Given the description of an element on the screen output the (x, y) to click on. 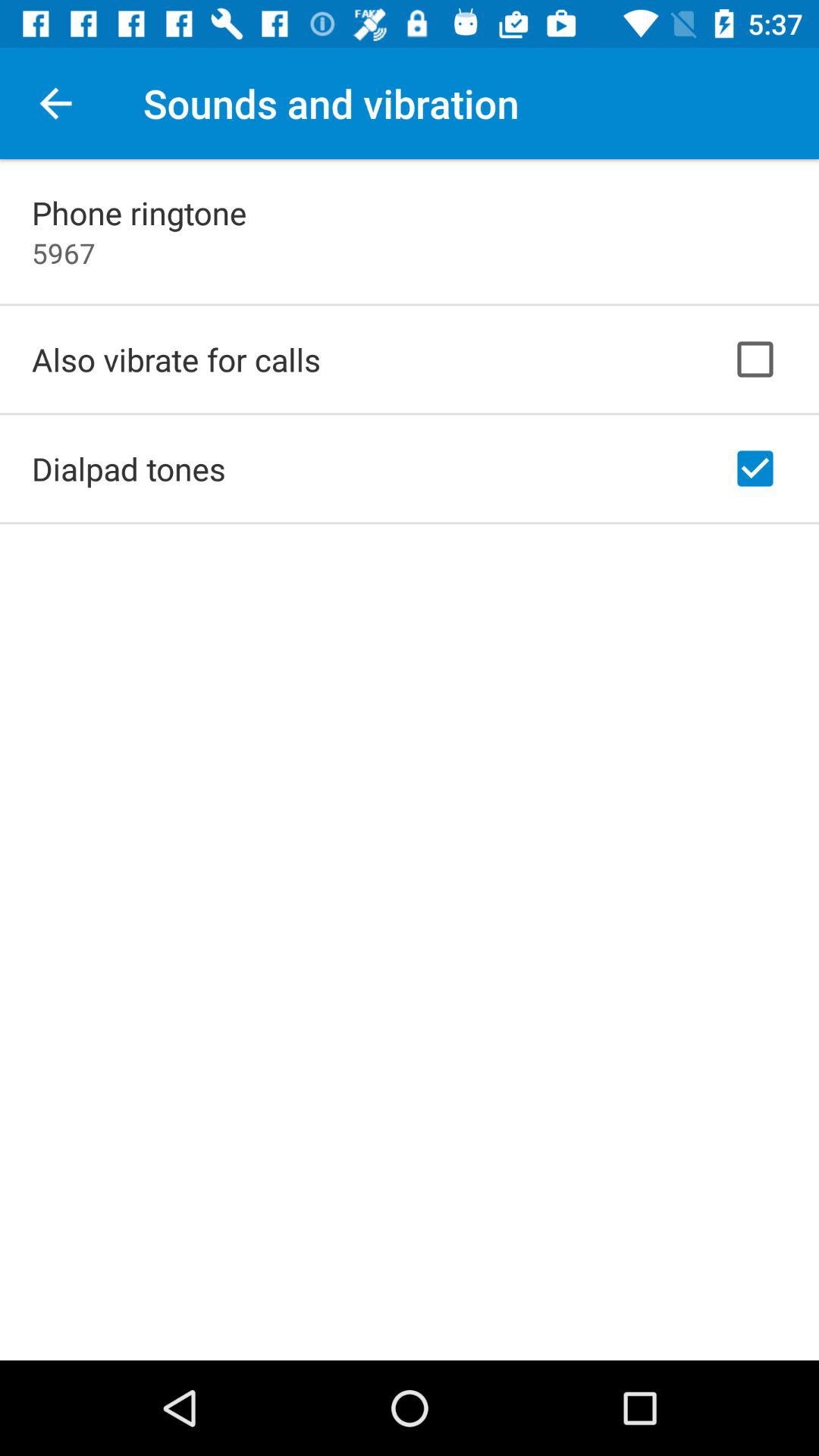
launch app above dialpad tones app (175, 359)
